Given the description of an element on the screen output the (x, y) to click on. 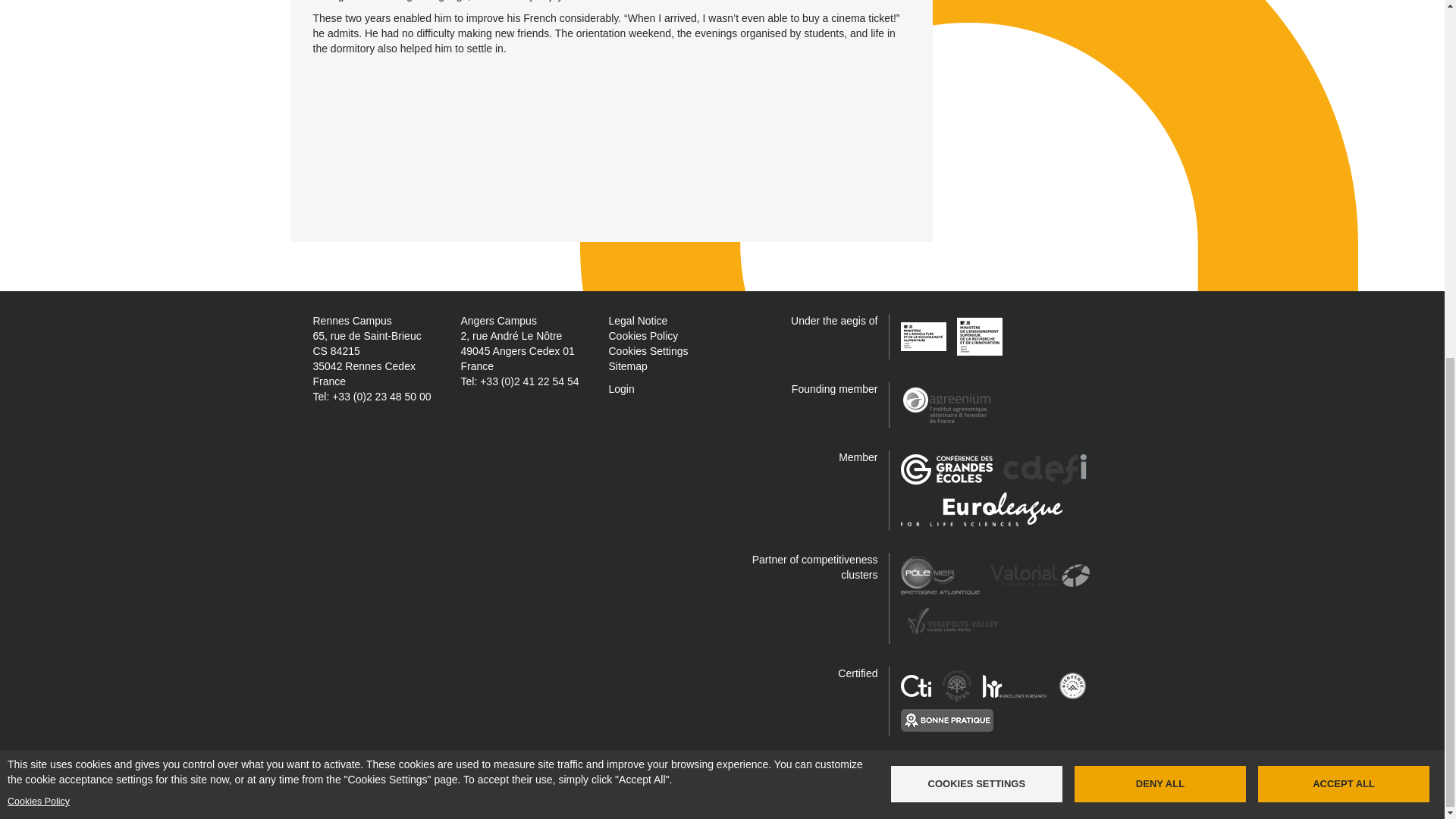
Twitter (714, 769)
Linkedin (807, 769)
Instagram (745, 769)
Facebook (683, 769)
Youtube (776, 769)
